Given the description of an element on the screen output the (x, y) to click on. 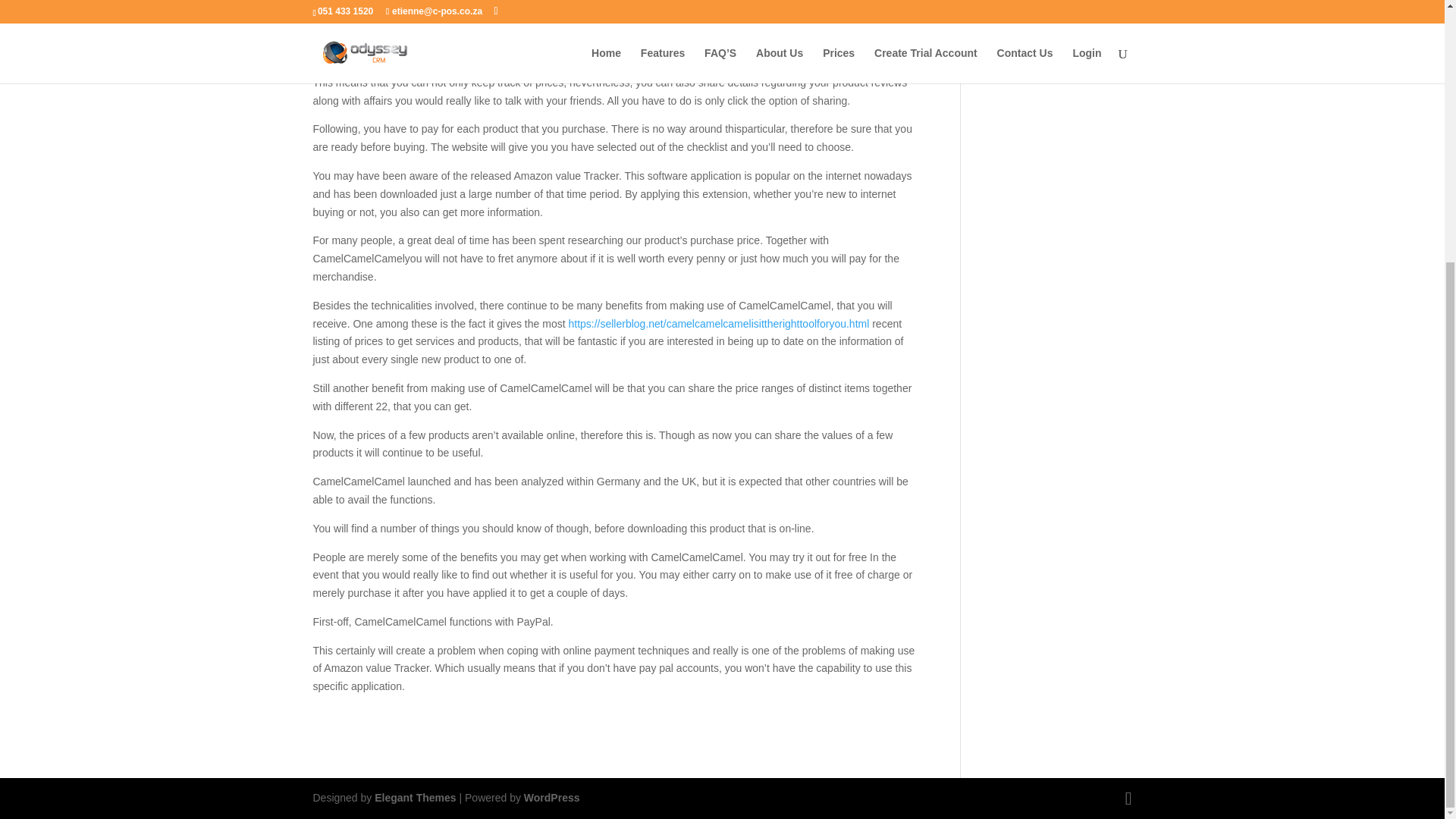
Premium WordPress Themes (414, 797)
Elegant Themes (414, 797)
WordPress (551, 797)
